Given the description of an element on the screen output the (x, y) to click on. 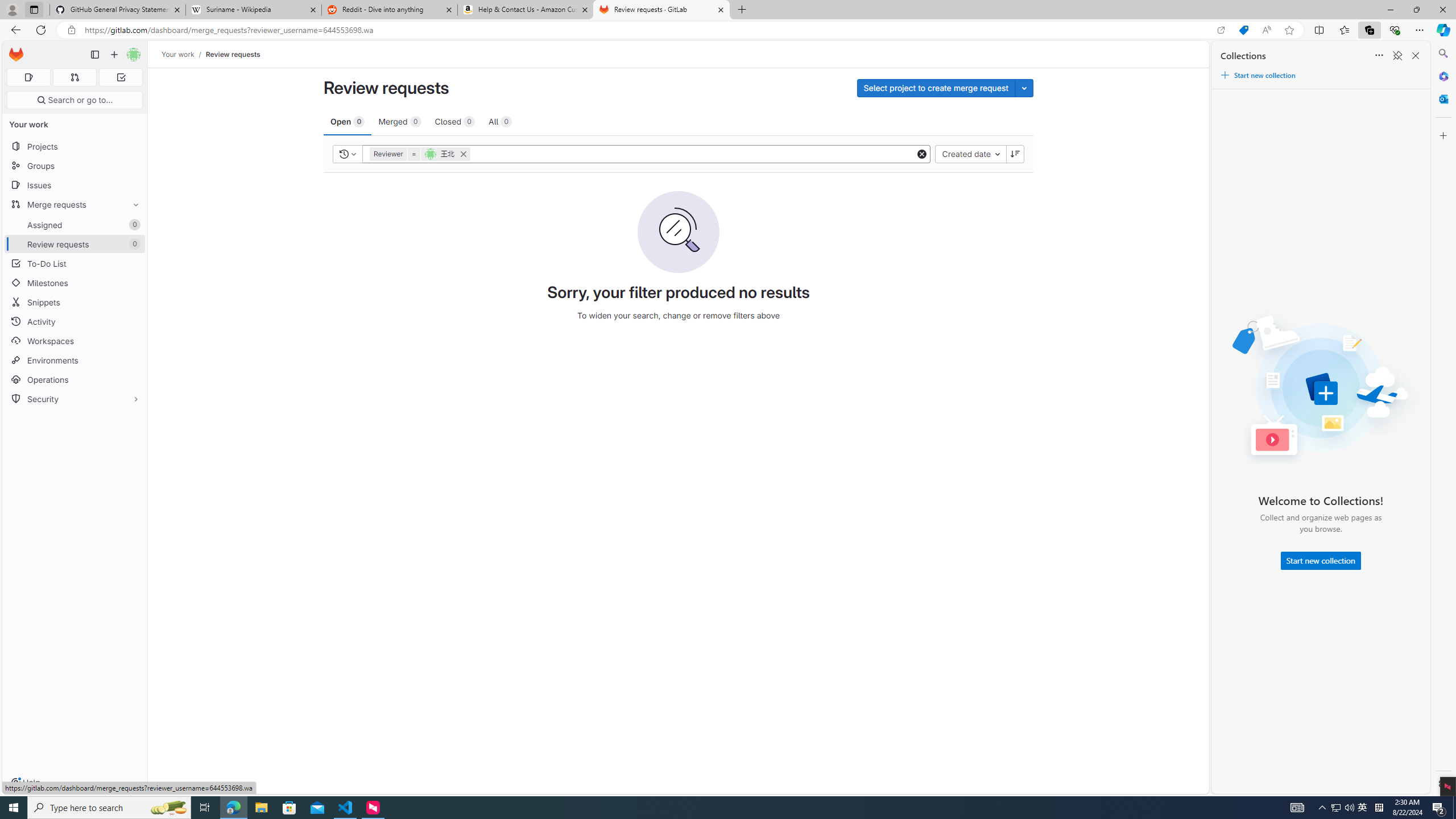
Closed 0 (454, 121)
Projects (74, 145)
Close Collections (1415, 55)
Create new... (113, 54)
Add search filter (693, 153)
Assigned0 (74, 224)
To-Do List (74, 262)
Milestones (74, 282)
Sort (1379, 55)
